Given the description of an element on the screen output the (x, y) to click on. 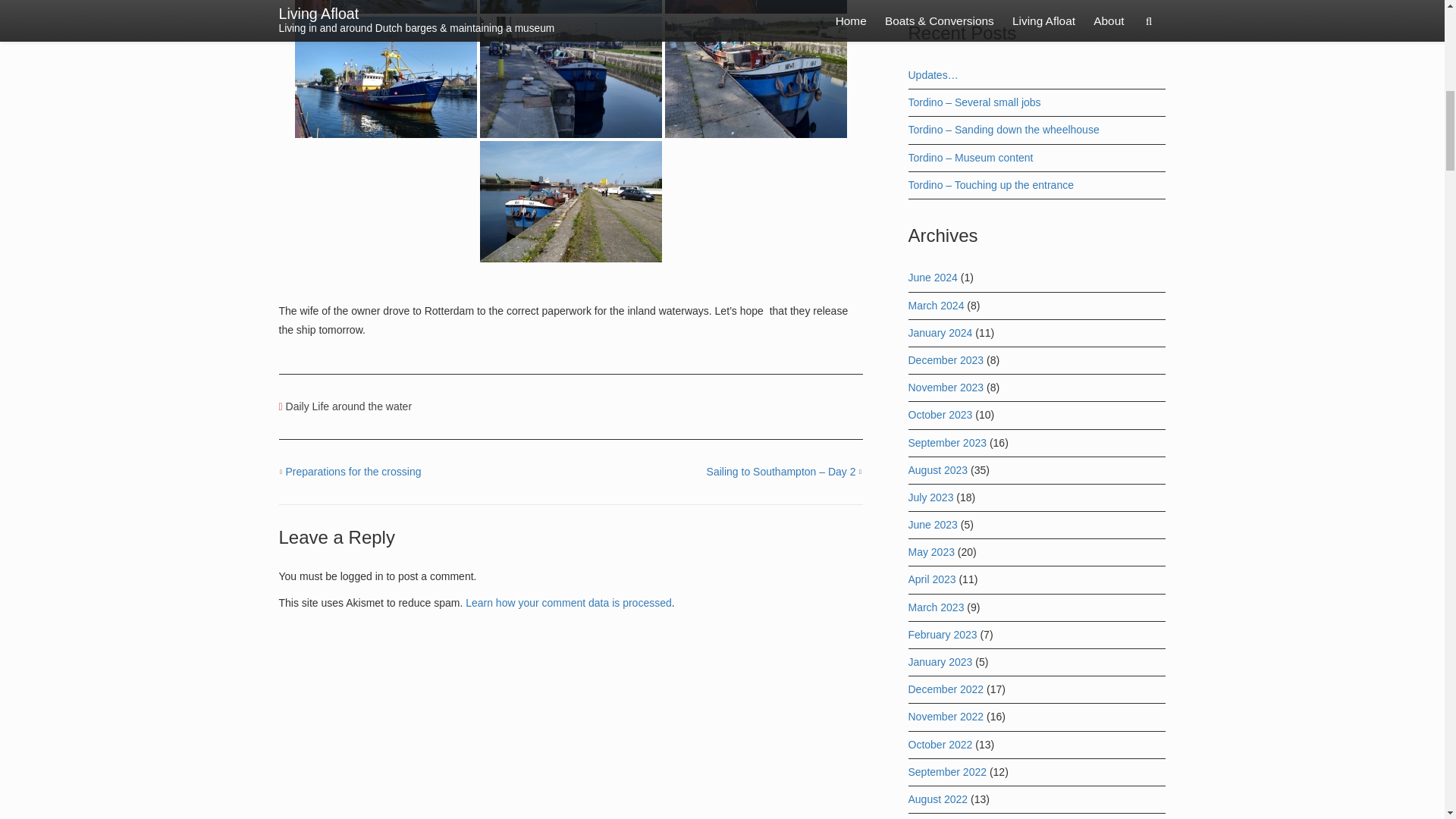
Preparations for the crossing (353, 471)
Daily Life around the water (348, 406)
